Given the description of an element on the screen output the (x, y) to click on. 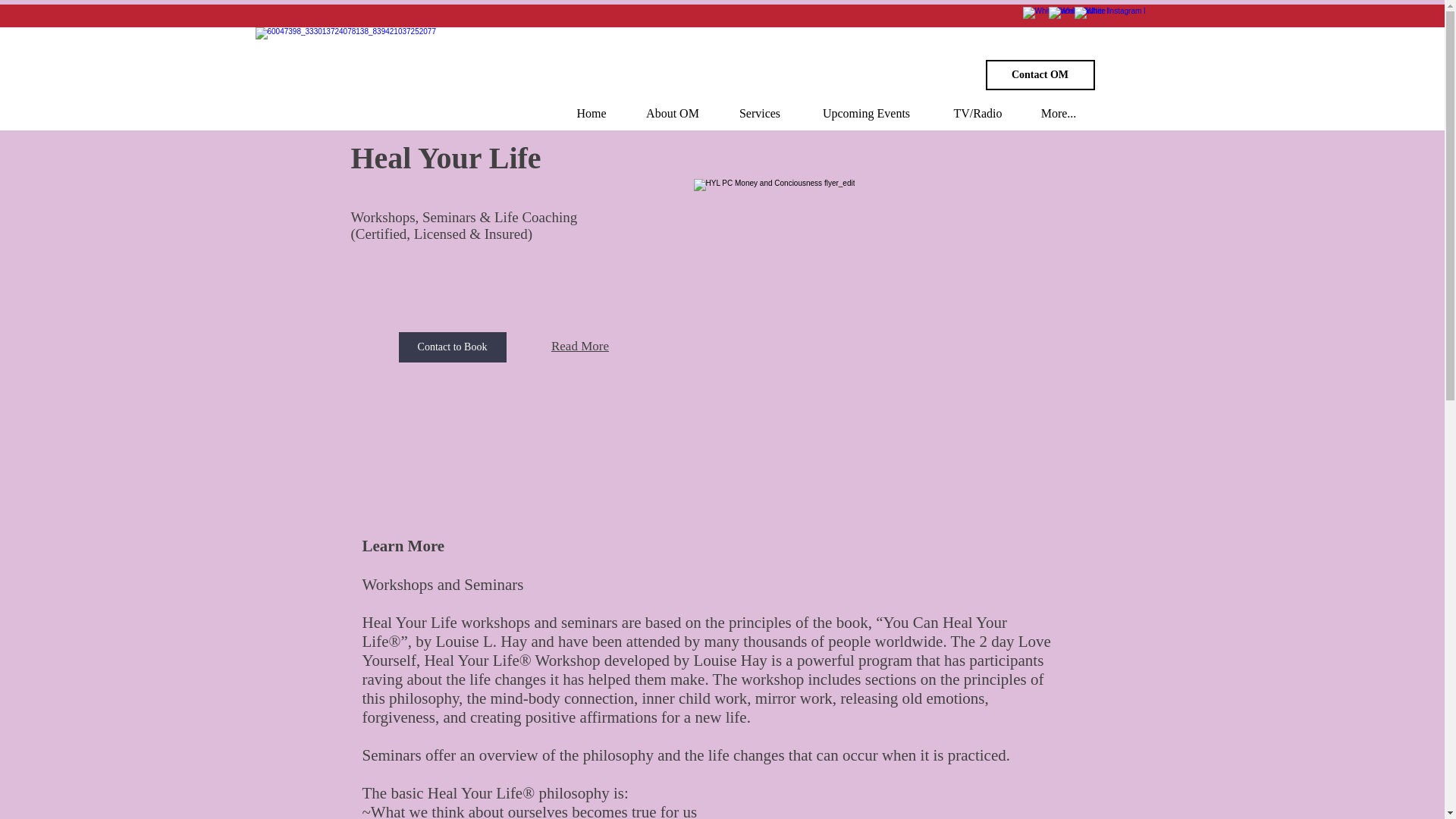
LY HYL.png (872, 334)
Contact to Book (452, 347)
Contact OM (1039, 74)
Upcoming Events (866, 113)
Home (591, 113)
Read More (579, 345)
